Given the description of an element on the screen output the (x, y) to click on. 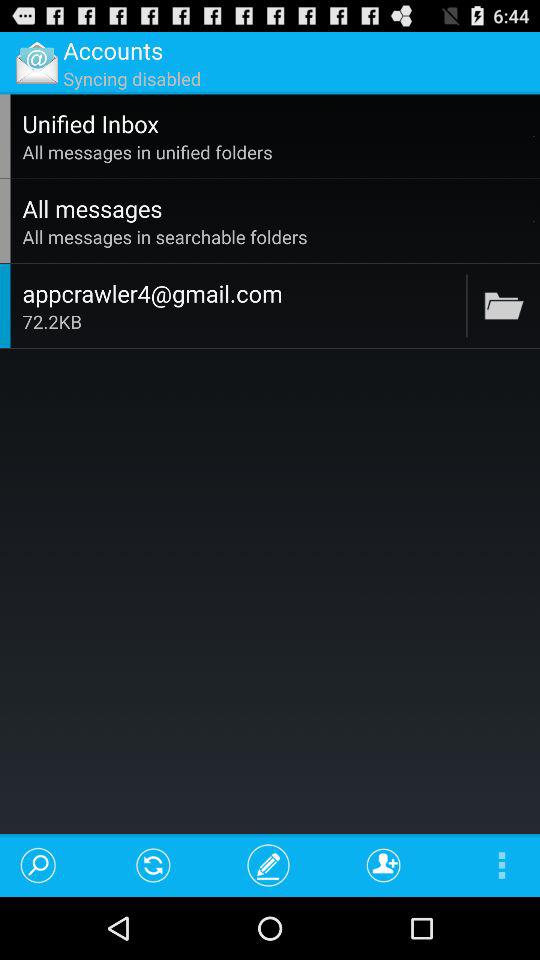
choose app below the all messages in (533, 220)
